Given the description of an element on the screen output the (x, y) to click on. 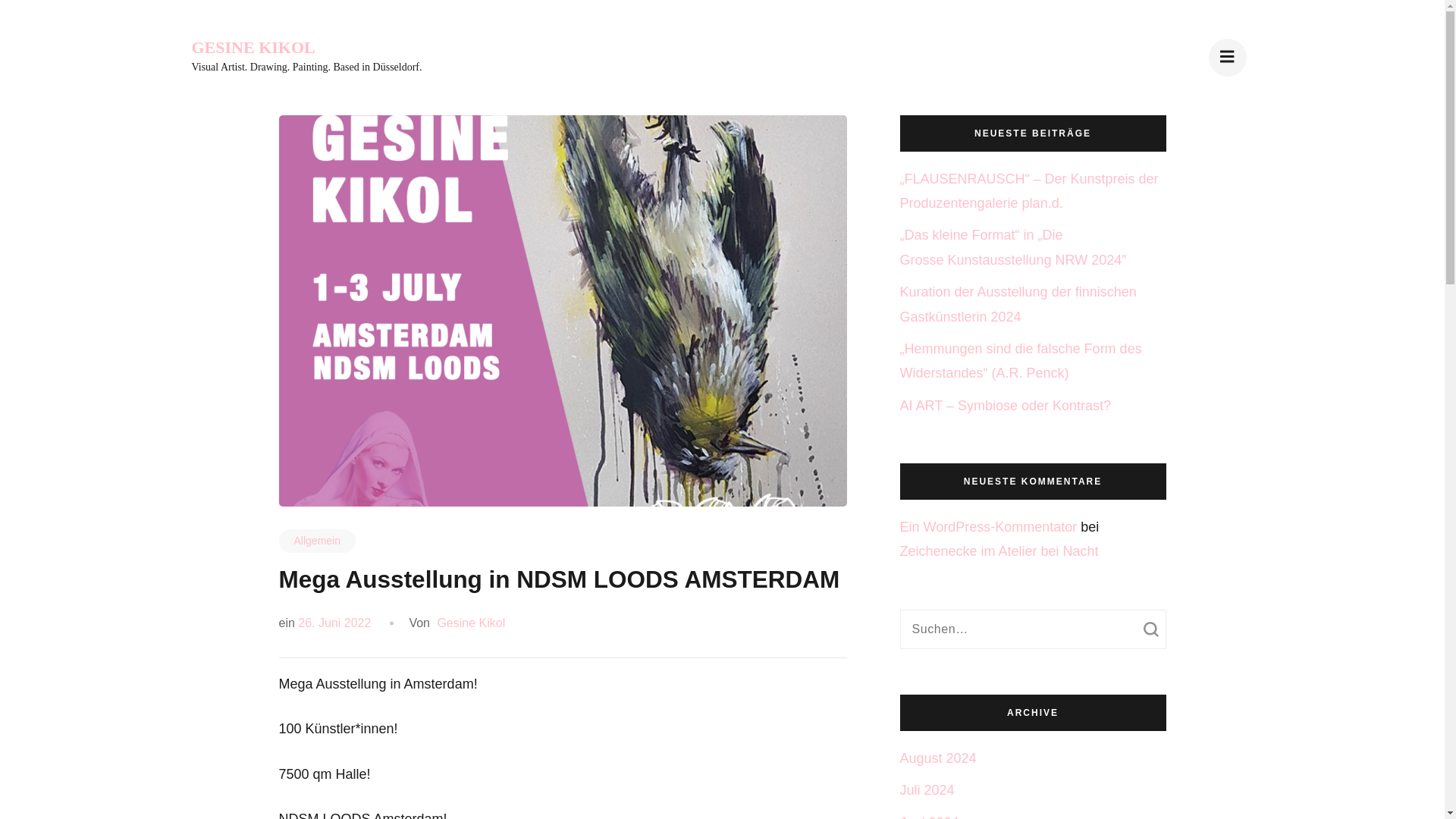
Ein WordPress-Kommentator (988, 526)
Juni 2024 (928, 816)
GESINE KIKOL (252, 46)
Juli 2024 (926, 789)
Zeichenecke im Atelier bei Nacht (998, 550)
Allgemein (317, 540)
26. Juni 2022 (334, 622)
August 2024 (937, 758)
Gesine Kikol (468, 623)
